Given the description of an element on the screen output the (x, y) to click on. 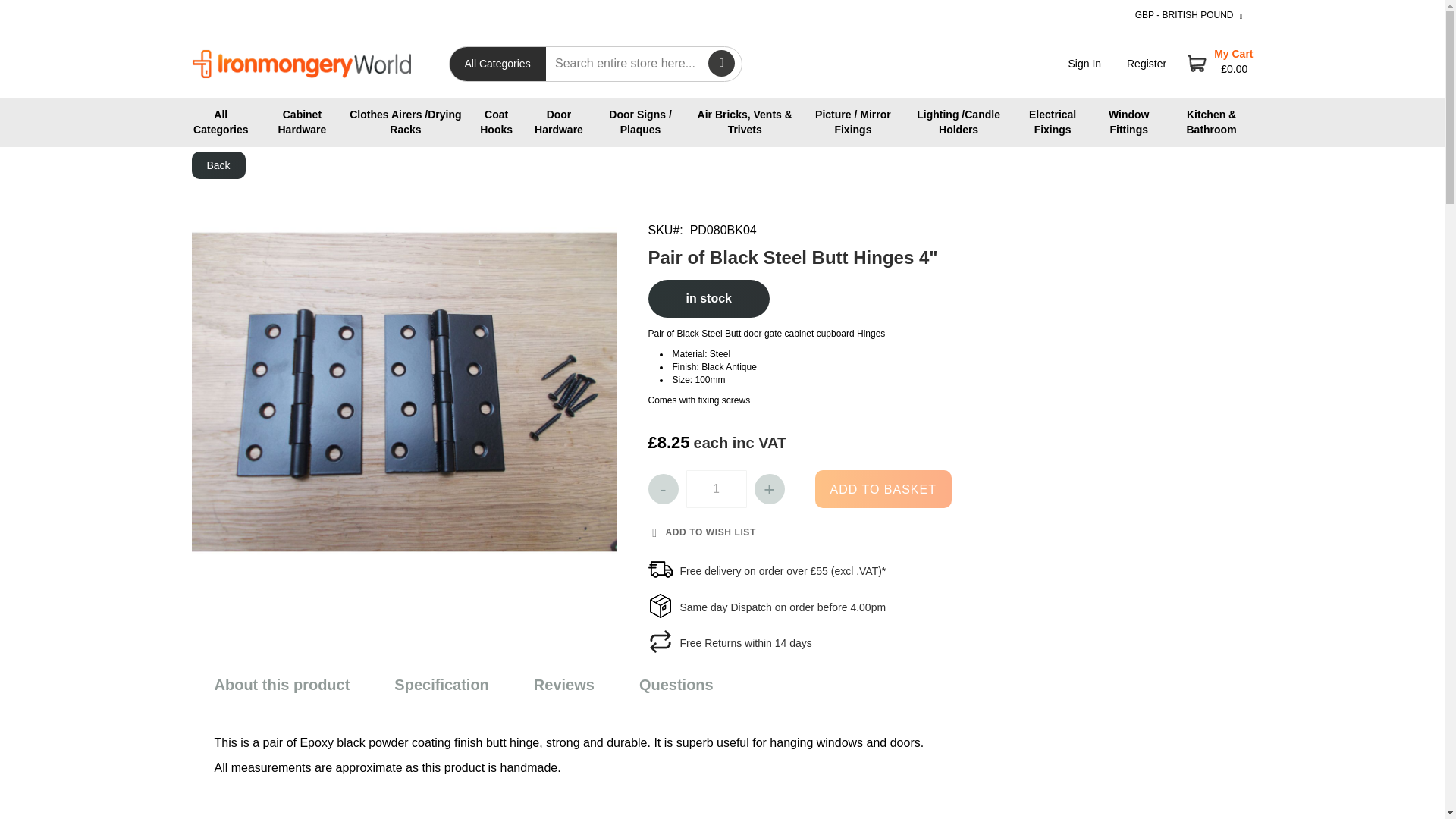
Add to Basket (881, 488)
Sign In (1085, 63)
1 (715, 488)
Register (1146, 63)
Ironmongery World (317, 63)
SEARCH (721, 62)
All Categories (220, 122)
Search (721, 62)
Ironmongery World (300, 63)
Qty (715, 488)
